Given the description of an element on the screen output the (x, y) to click on. 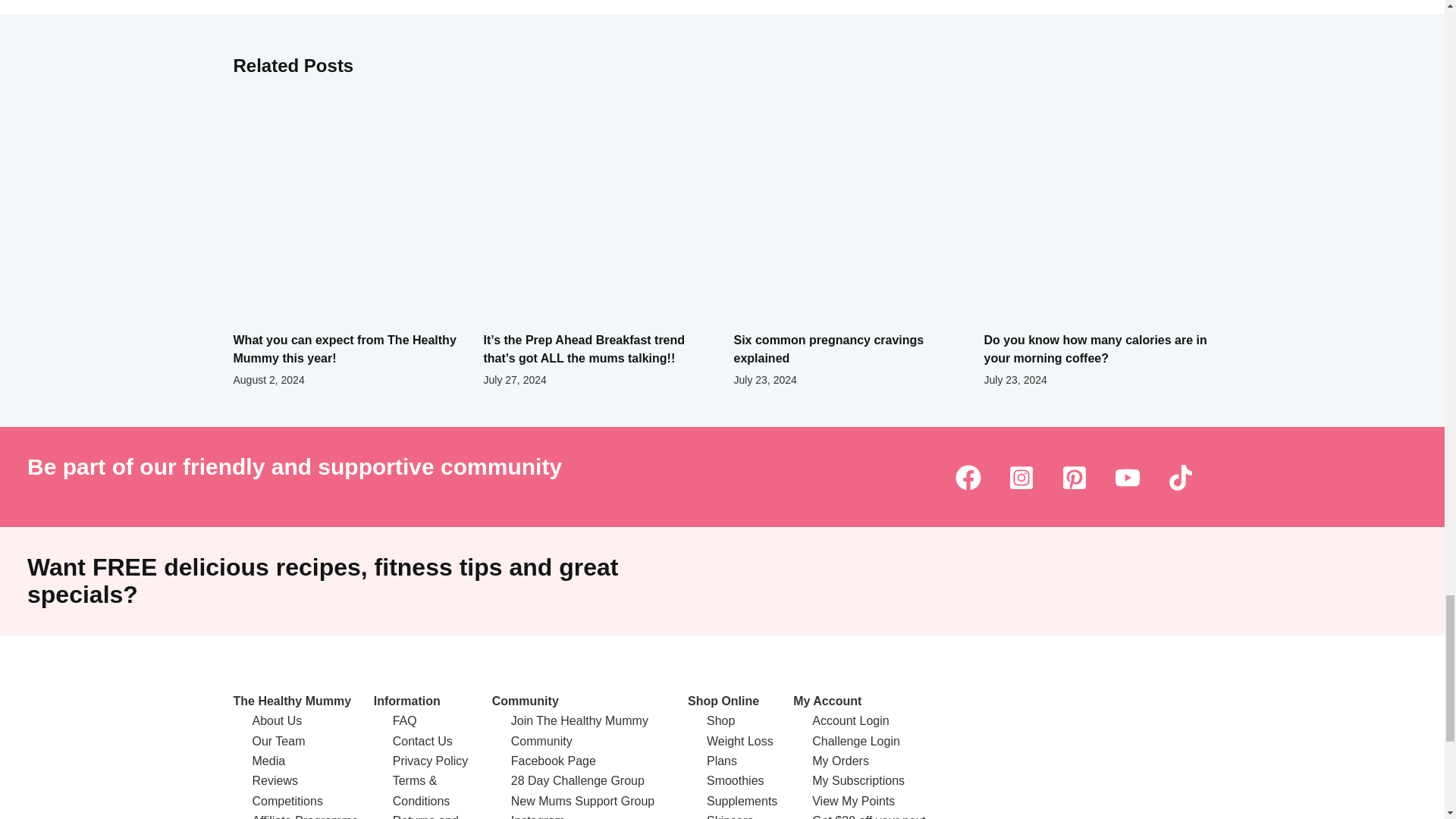
Pinterest (1074, 477)
Join Our Affiliate Programme (304, 816)
Instagram (1020, 477)
TikTok (1180, 477)
You Tube (1127, 477)
Facebook (968, 477)
The Healthy Mummy (292, 700)
